Given the description of an element on the screen output the (x, y) to click on. 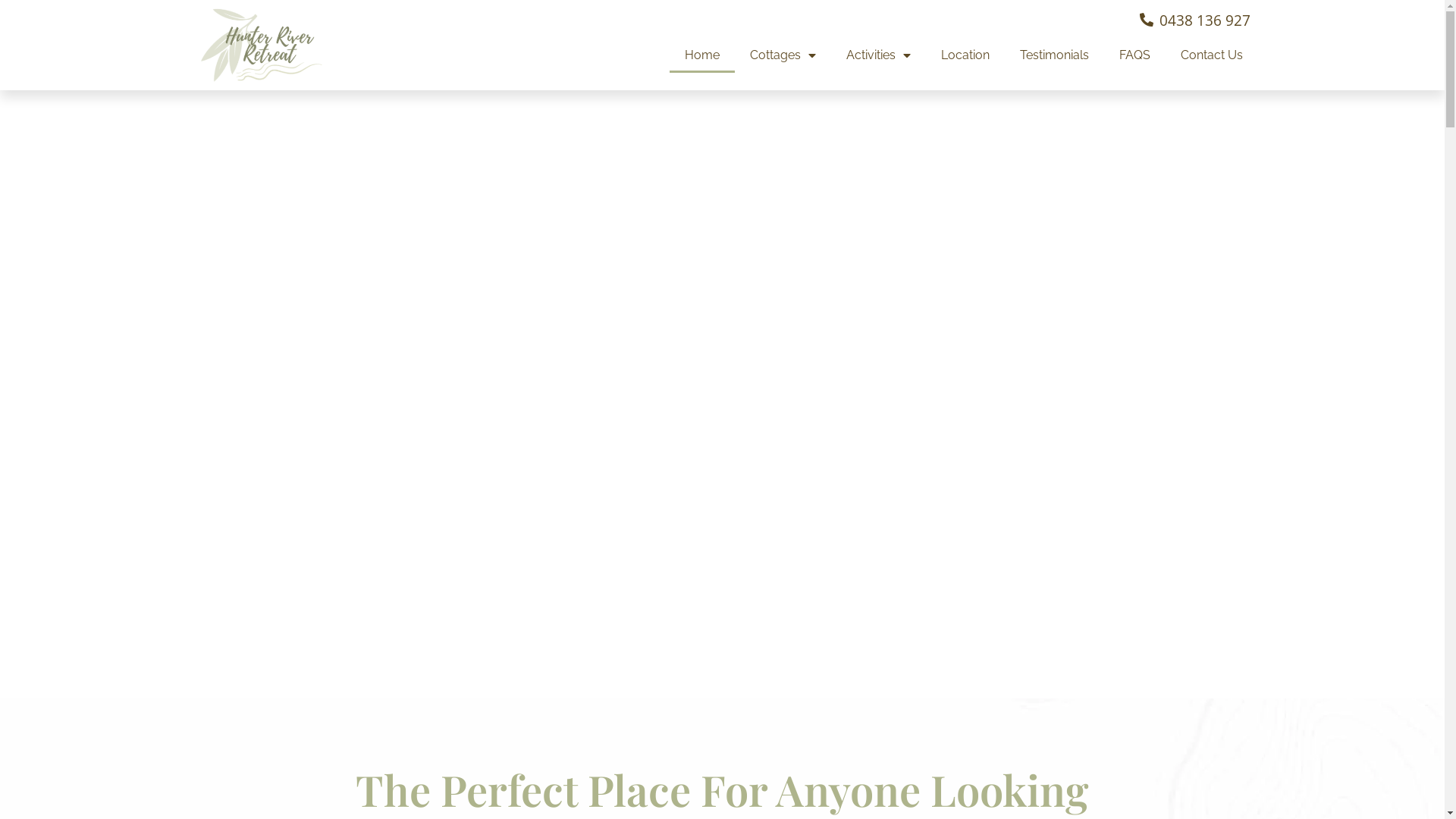
Activities Element type: text (878, 54)
Home Element type: text (701, 54)
Contact Us Element type: text (1203, 54)
Location Element type: text (964, 54)
Testimonials Element type: text (1053, 54)
FAQS Element type: text (1134, 54)
0438 136 927 Element type: text (1194, 19)
Cottages Element type: text (782, 54)
